Given the description of an element on the screen output the (x, y) to click on. 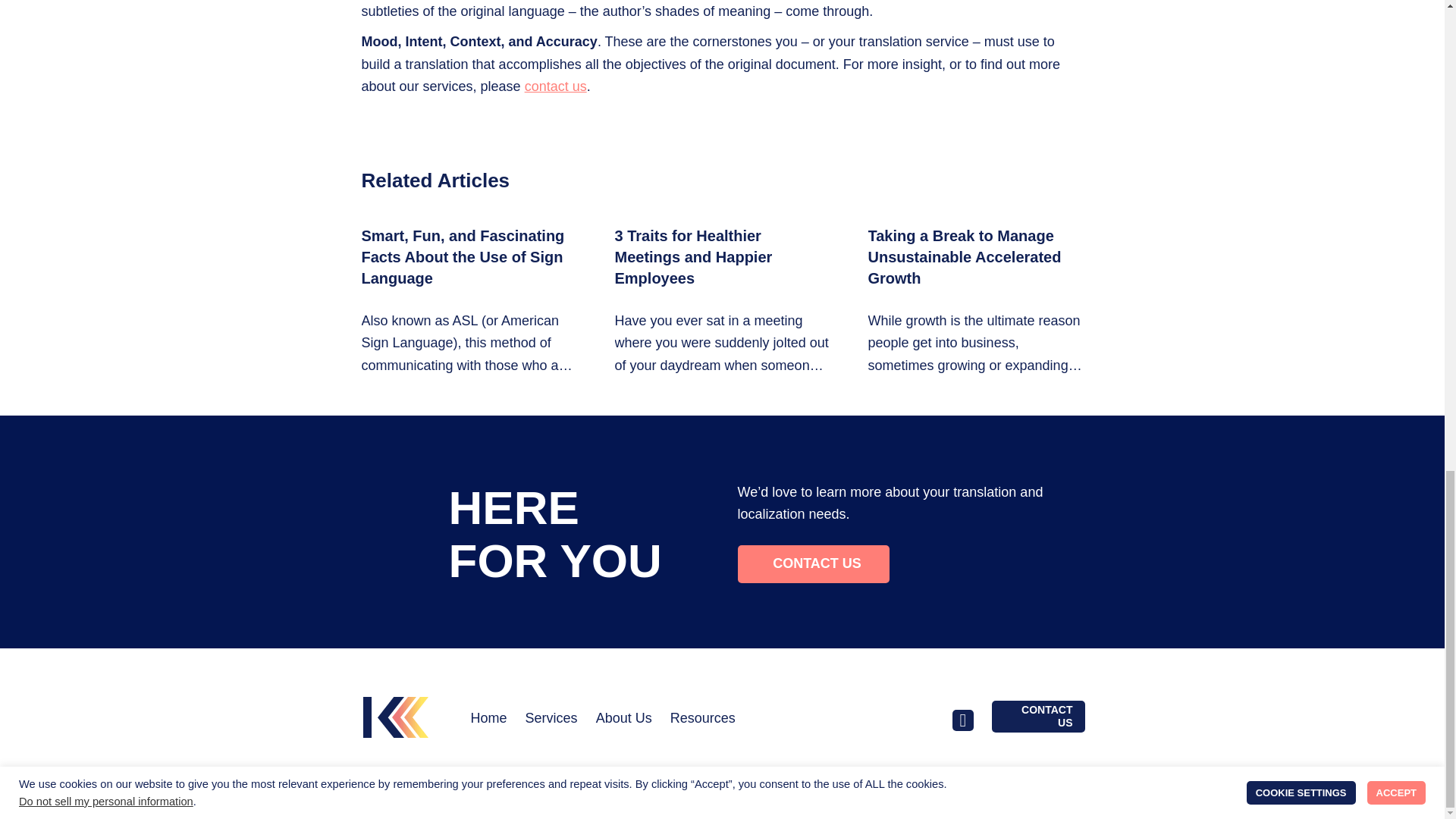
About Us (623, 718)
Privacy Policy (947, 802)
Resources (702, 718)
CONTACT US (1037, 716)
Home (488, 718)
3 Traits for Healthier Meetings and Happier Employees (721, 301)
Services (551, 718)
keylingo-logo-navy-keylingo-mark (394, 717)
contact us (555, 86)
Taking a Break to Manage Unsustainable Accelerated Growth (975, 301)
CONTACT US (812, 564)
